Given the description of an element on the screen output the (x, y) to click on. 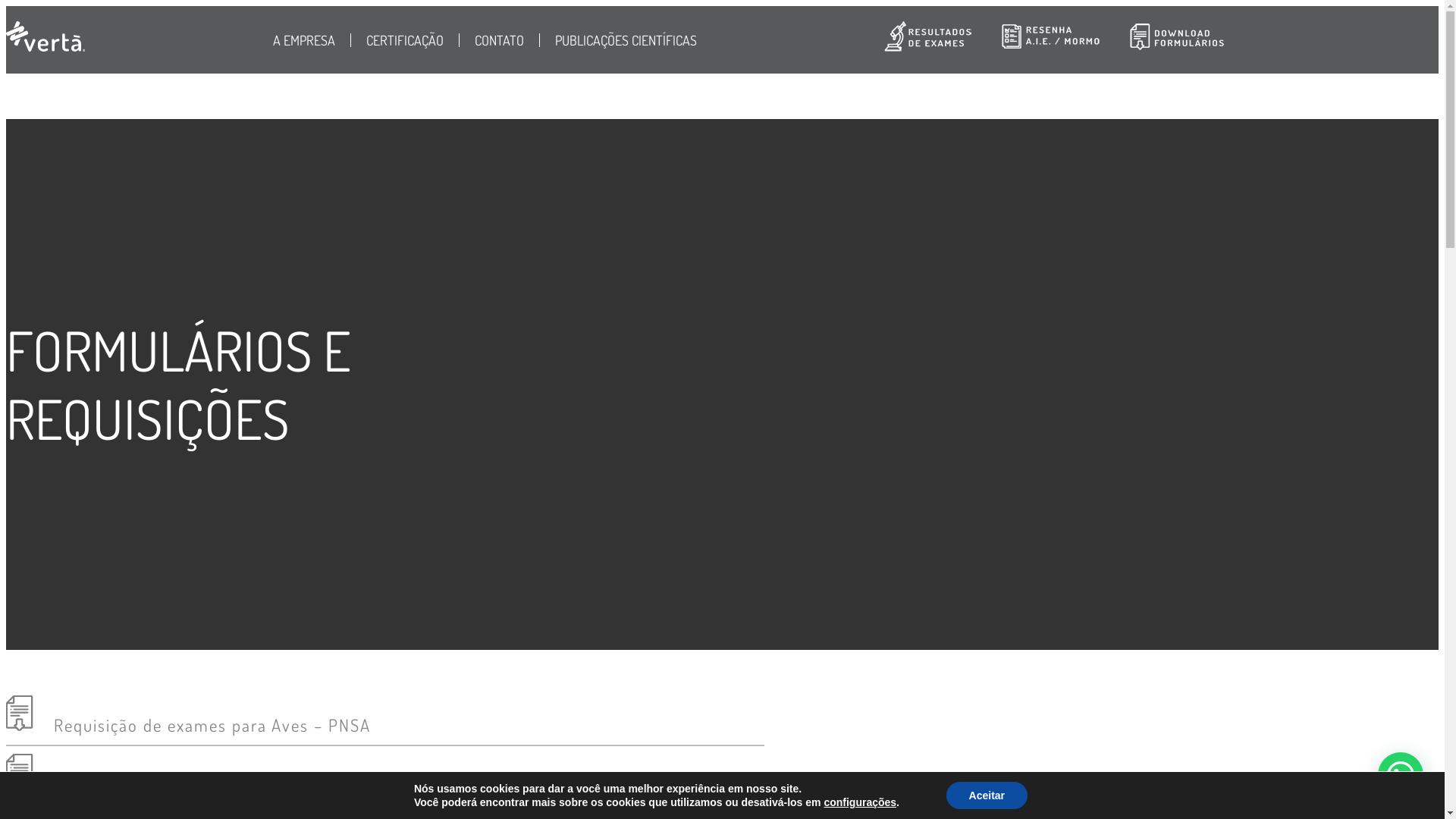
CONTATO Element type: text (499, 40)
Aceitar Element type: text (986, 795)
A EMPRESA Element type: text (311, 40)
